Given the description of an element on the screen output the (x, y) to click on. 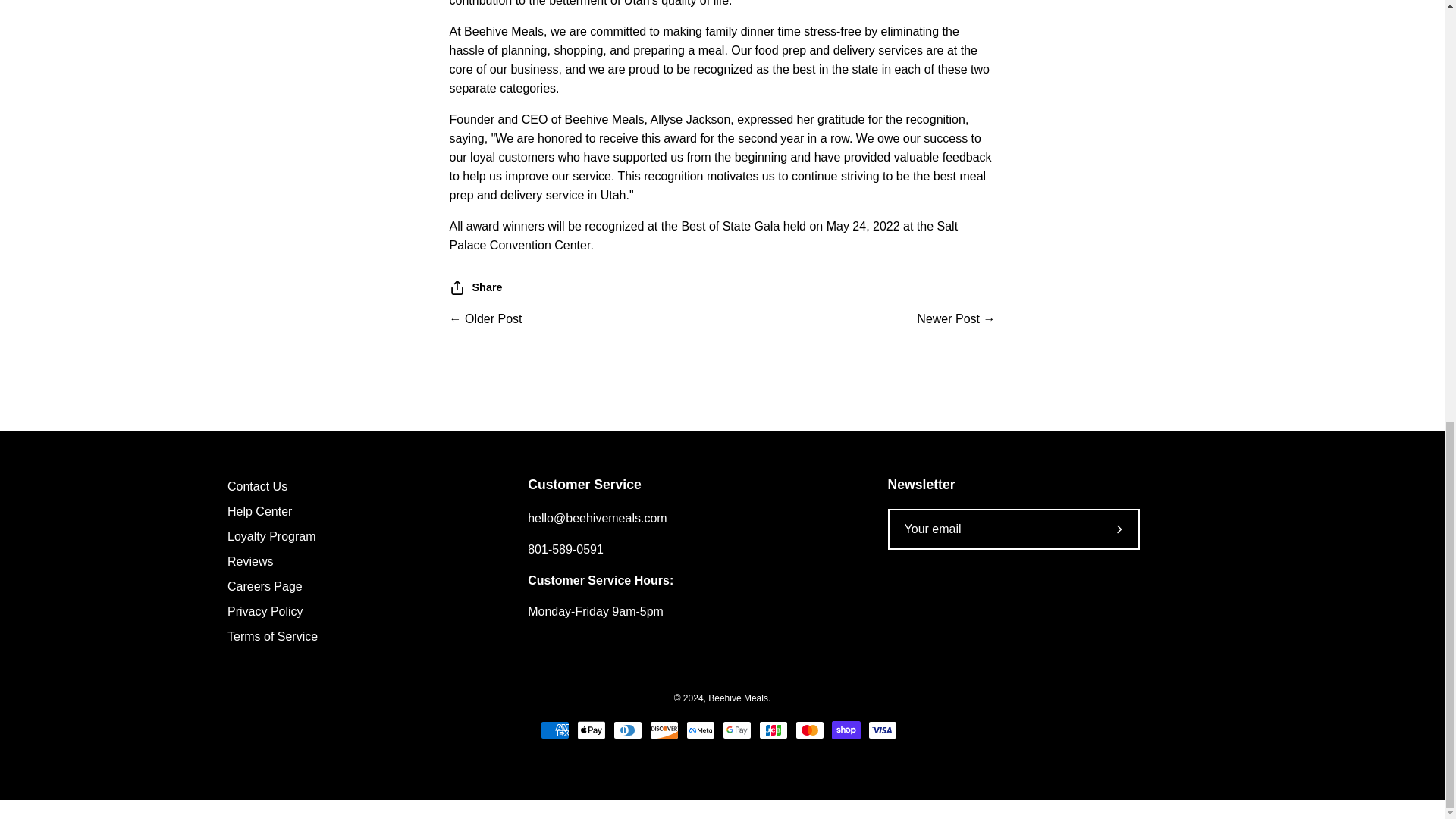
Reviews (250, 561)
Subscribe to Our Newsletter (1120, 528)
Privacy Policy (264, 611)
Contact Us (256, 486)
Help Center (259, 511)
Share (475, 287)
Loyalty Program (271, 535)
Terms of Service (272, 635)
Careers Page (264, 585)
